Given the description of an element on the screen output the (x, y) to click on. 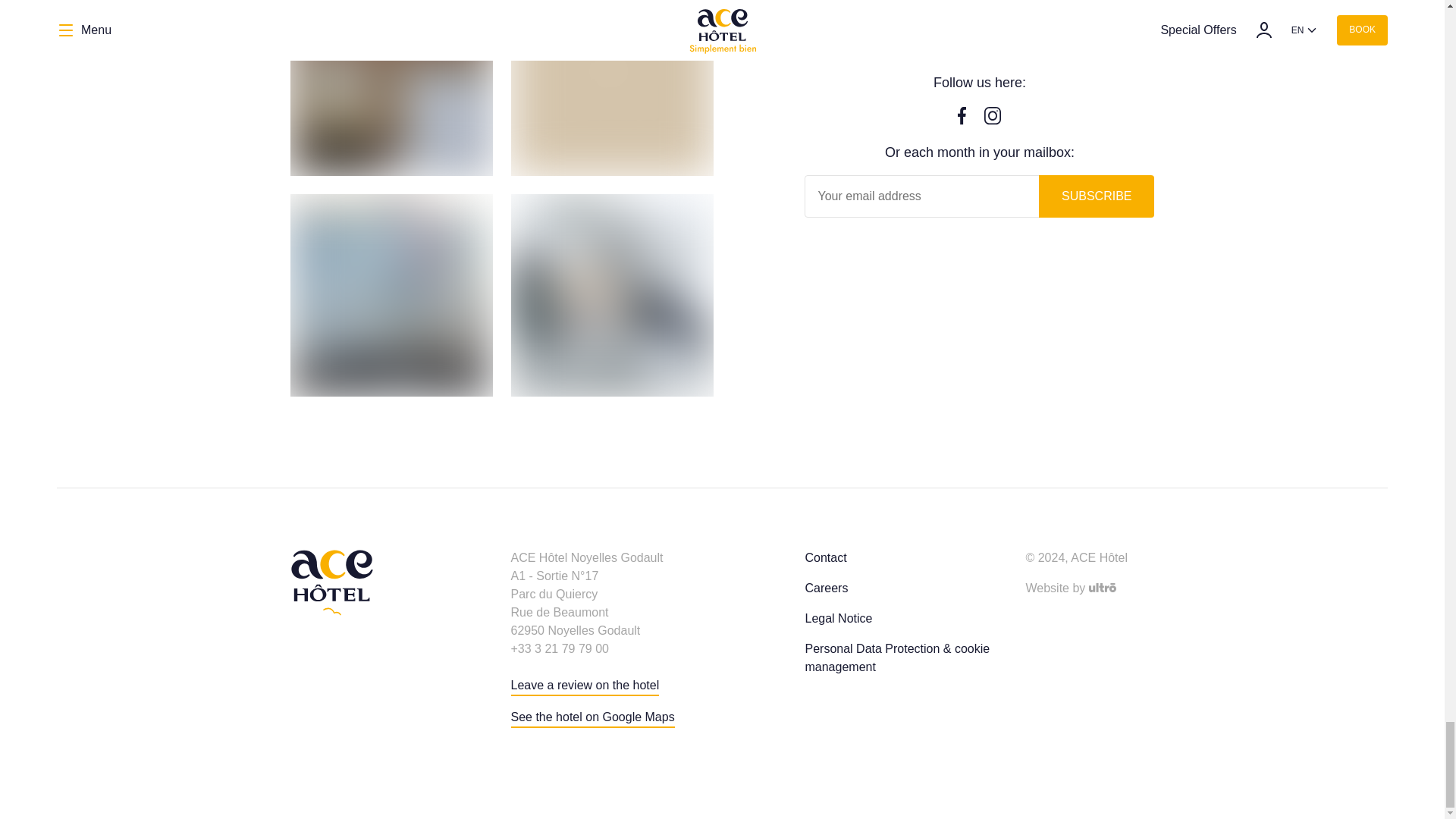
Legal Notice (838, 618)
Contact (825, 558)
SUBSCRIBE (1096, 196)
Careers (826, 588)
See the hotel on Google Maps (593, 718)
Leave a review on the hotel (585, 686)
